Given the description of an element on the screen output the (x, y) to click on. 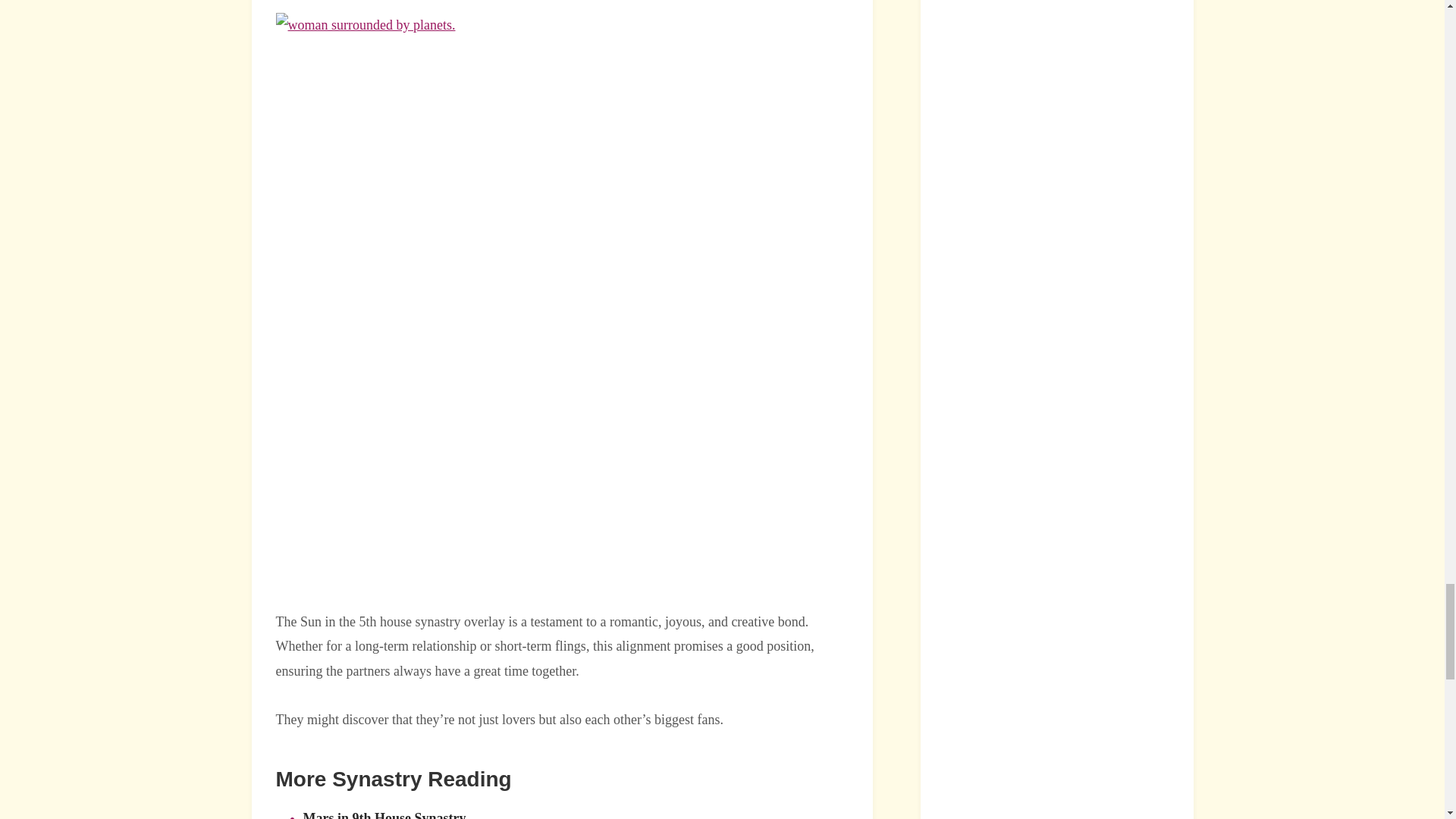
Mars in 9th House Synastry (383, 814)
